Given the description of an element on the screen output the (x, y) to click on. 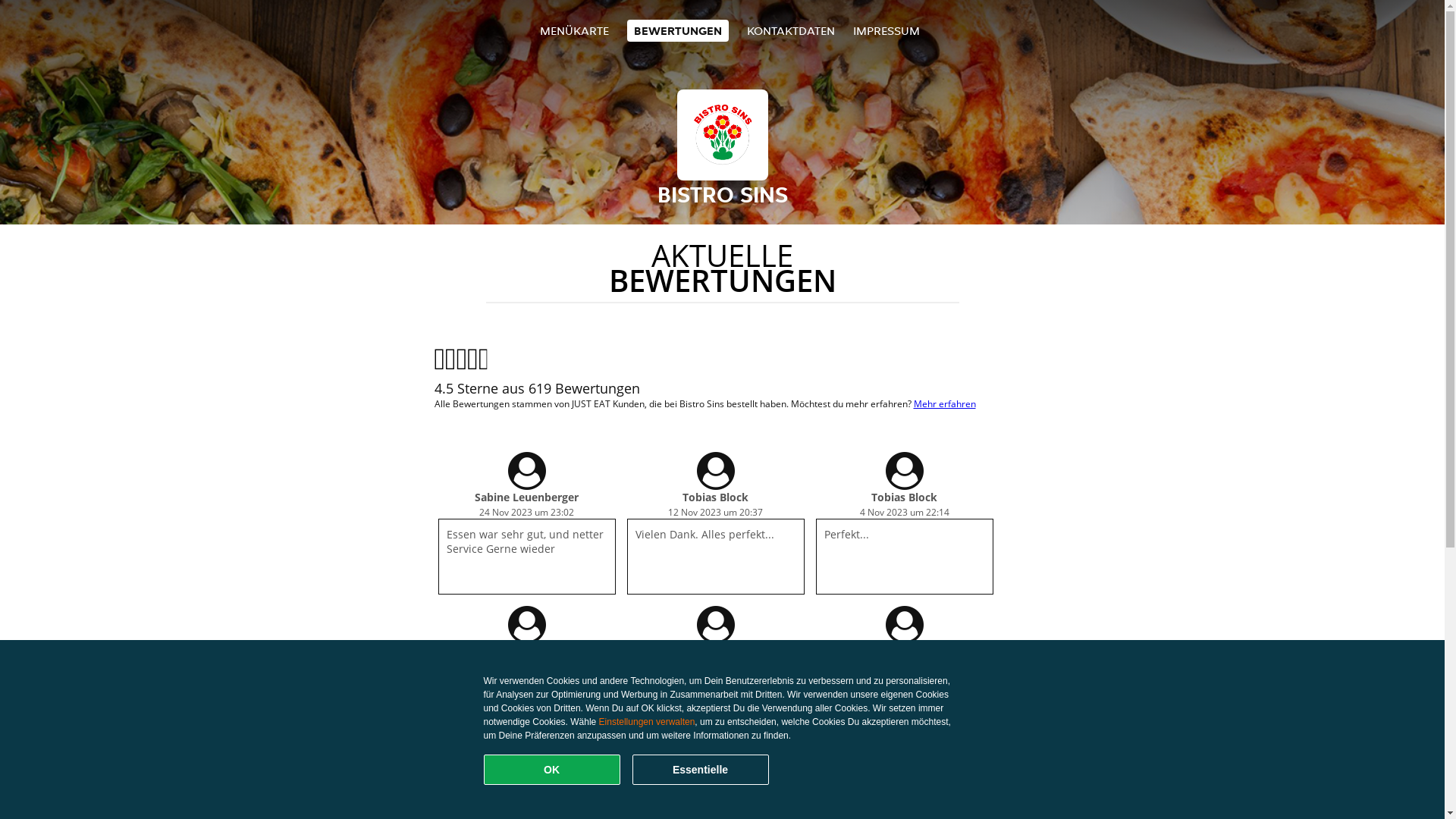
KONTAKTDATEN Element type: text (790, 30)
BEWERTUNGEN Element type: text (677, 30)
Essentielle Element type: text (700, 769)
IMPRESSUM Element type: text (886, 30)
Einstellungen verwalten Element type: text (647, 721)
OK Element type: text (551, 769)
Mehr erfahren Element type: text (944, 403)
